Given the description of an element on the screen output the (x, y) to click on. 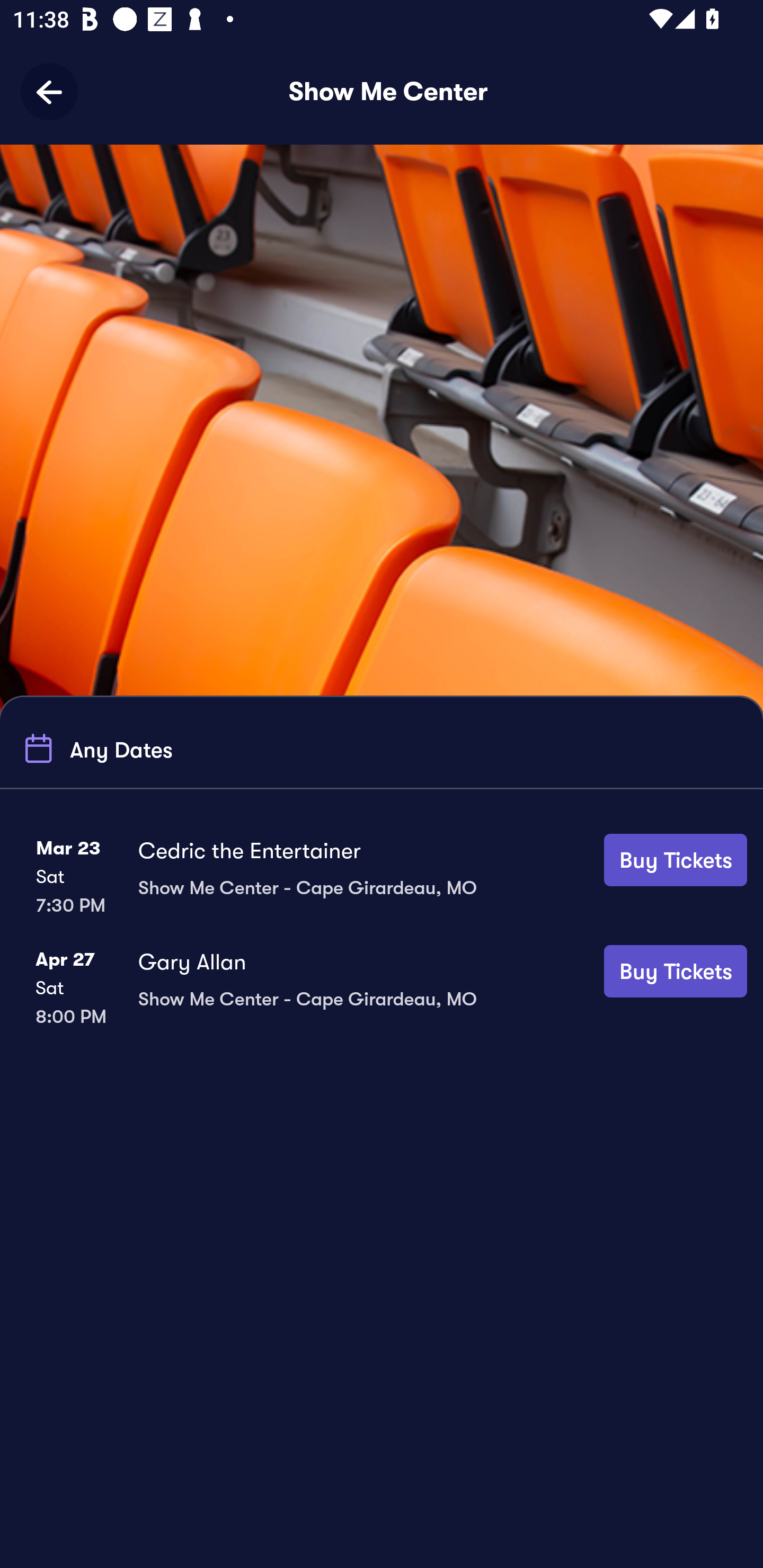
Any Dates (95, 749)
